Given the description of an element on the screen output the (x, y) to click on. 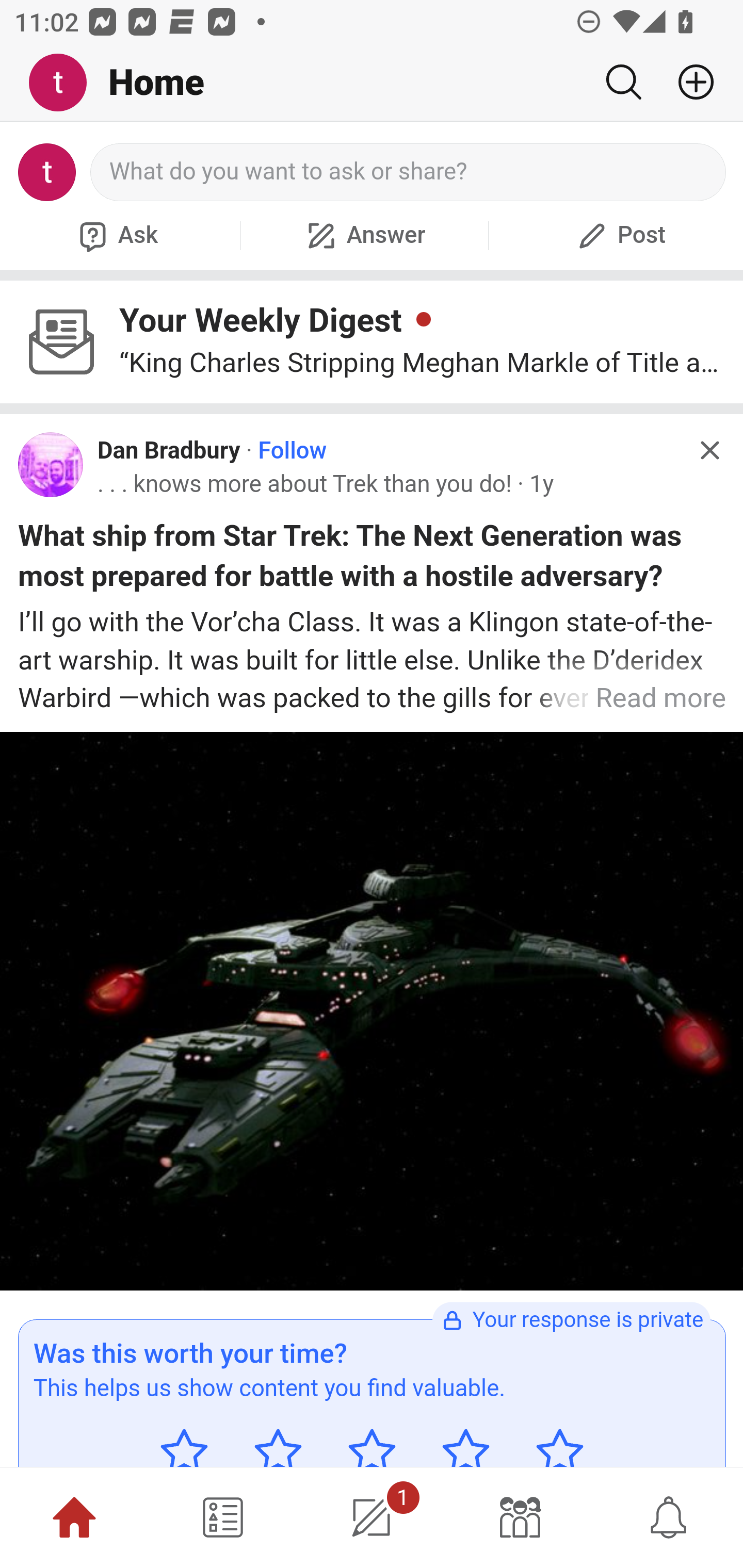
Me (64, 83)
Search (623, 82)
Add (688, 82)
What do you want to ask or share? (408, 172)
Ask (116, 234)
Answer (364, 234)
Post (618, 234)
Hide (709, 449)
Profile photo for Dan Bradbury (50, 465)
Dan Bradbury (169, 451)
Follow (292, 451)
1 (371, 1517)
